Given the description of an element on the screen output the (x, y) to click on. 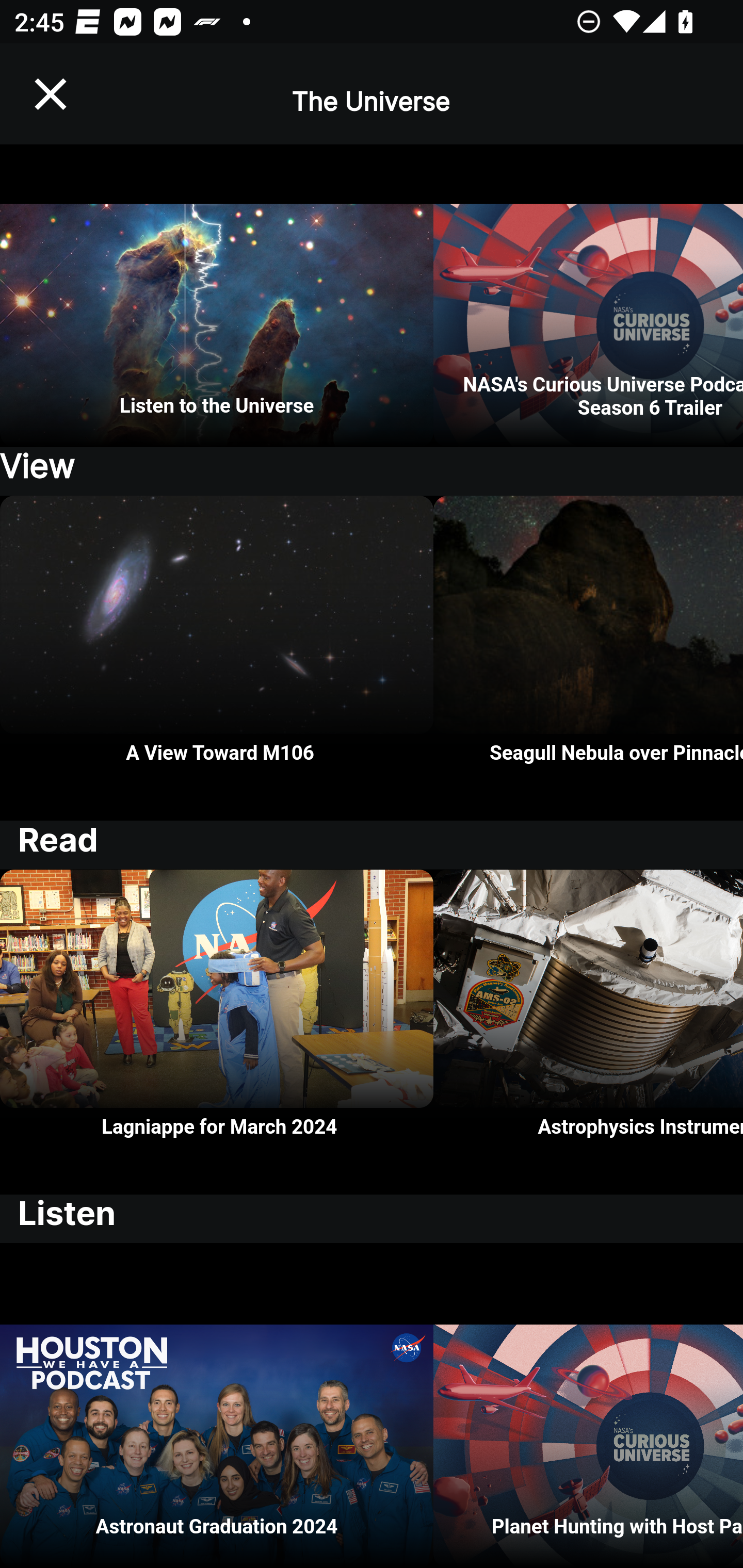
Listen to the Universe (216, 295)
A View Toward M106 (216, 657)
Seagull Nebula over Pinnacles' Peak (588, 657)
Lagniappe for March 2024 (216, 1032)
Astrophysics Instruments (588, 1032)
Astronaut Graduation 2024 (216, 1405)
Planet Hunting with Host Padi Boyd (588, 1405)
